Given the description of an element on the screen output the (x, y) to click on. 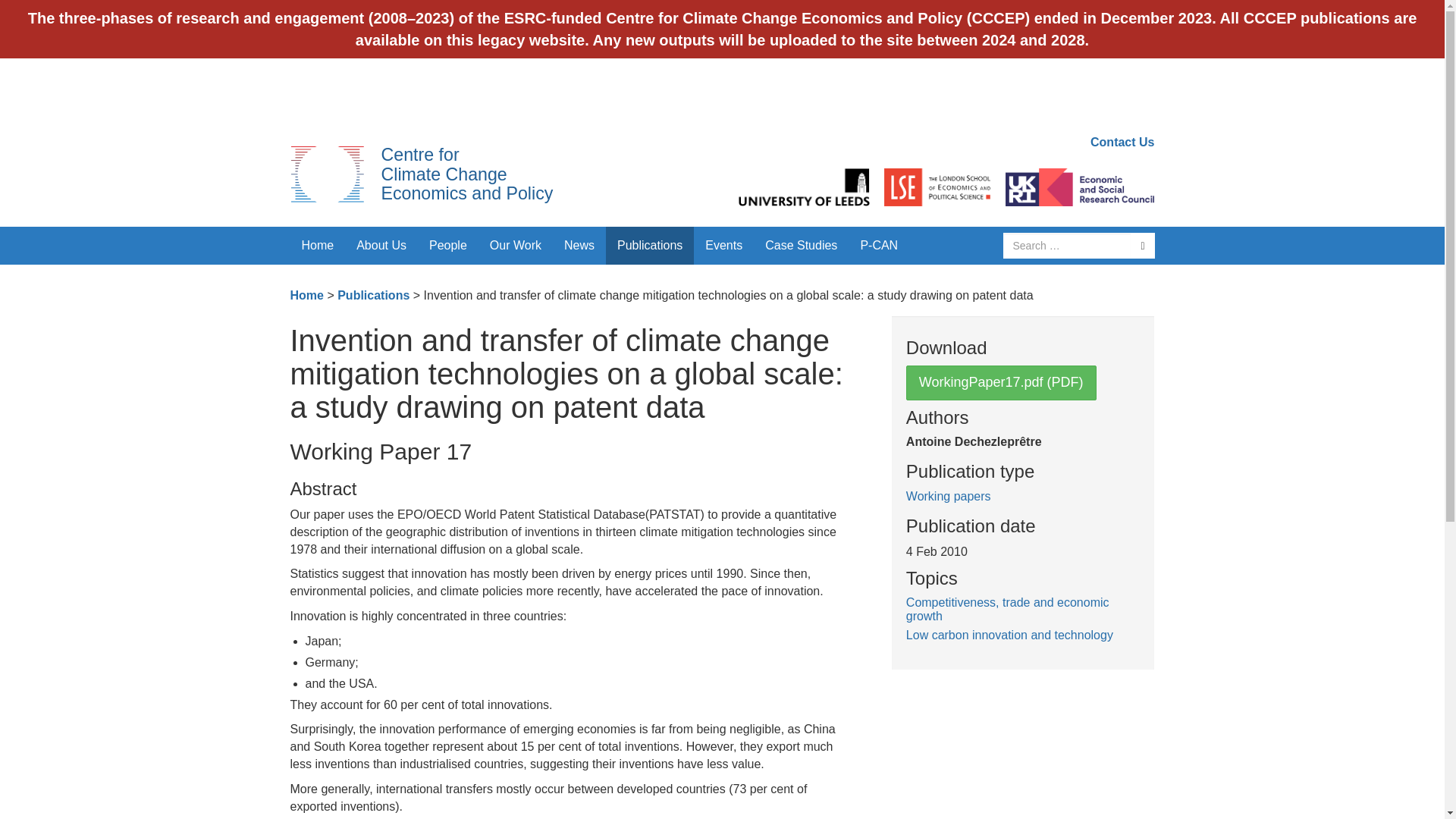
P-CAN (878, 245)
Publications (373, 295)
Our Work (516, 245)
Events (724, 245)
Publications (649, 245)
Our Work (516, 245)
Home (306, 295)
Working papers (948, 495)
People (448, 245)
People (448, 245)
Events (724, 245)
About Us (381, 245)
Competitiveness, trade and economic growth (1007, 609)
P-CAN (878, 245)
Contact Us (1122, 141)
